Given the description of an element on the screen output the (x, y) to click on. 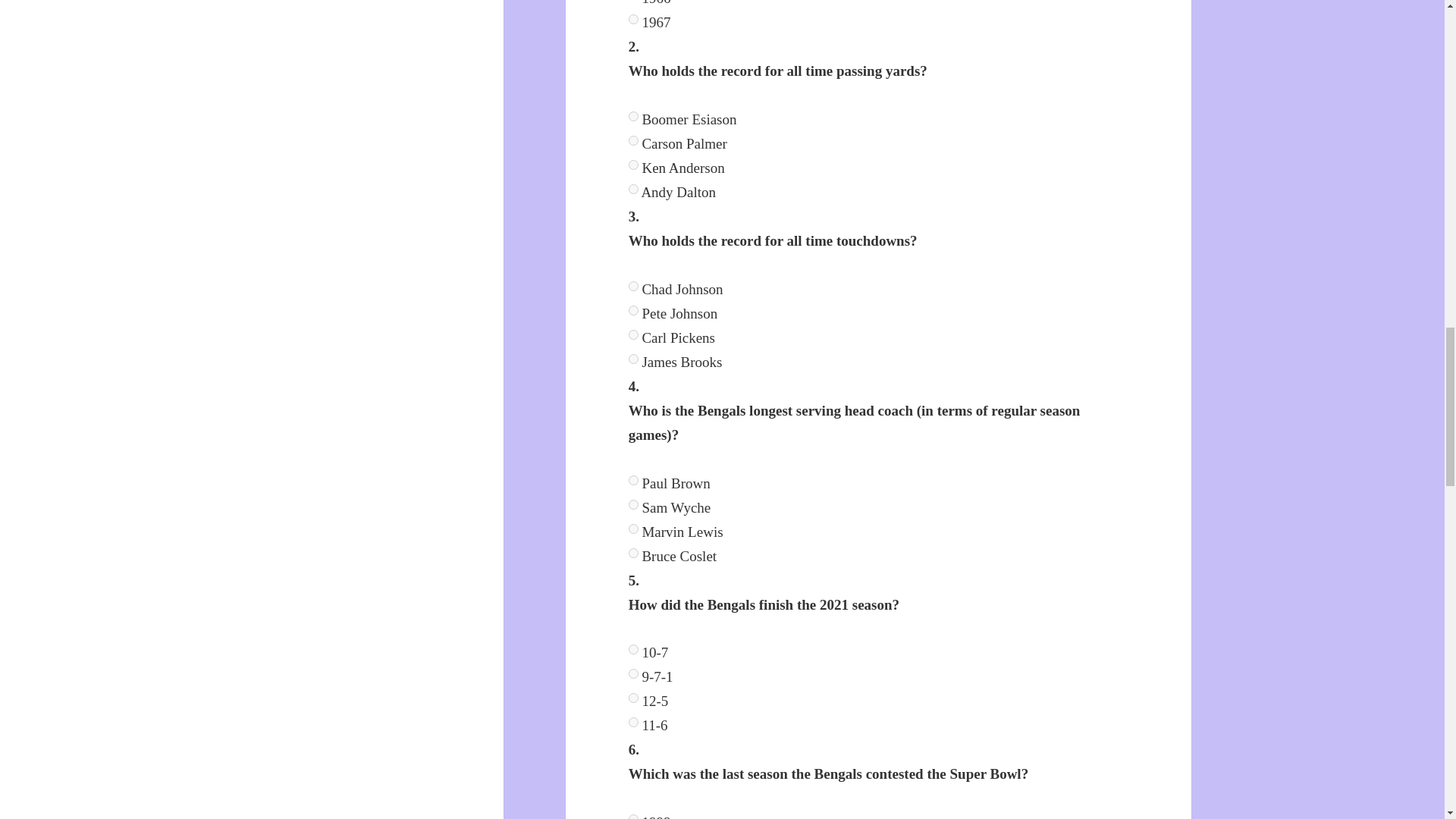
2 (633, 528)
2 (633, 334)
1 (633, 504)
0 (633, 649)
0 (633, 116)
0 (633, 480)
1 (633, 140)
3 (633, 19)
0 (633, 286)
3 (633, 358)
3 (633, 189)
2 (633, 697)
1 (633, 310)
1 (633, 673)
3 (633, 552)
